Given the description of an element on the screen output the (x, y) to click on. 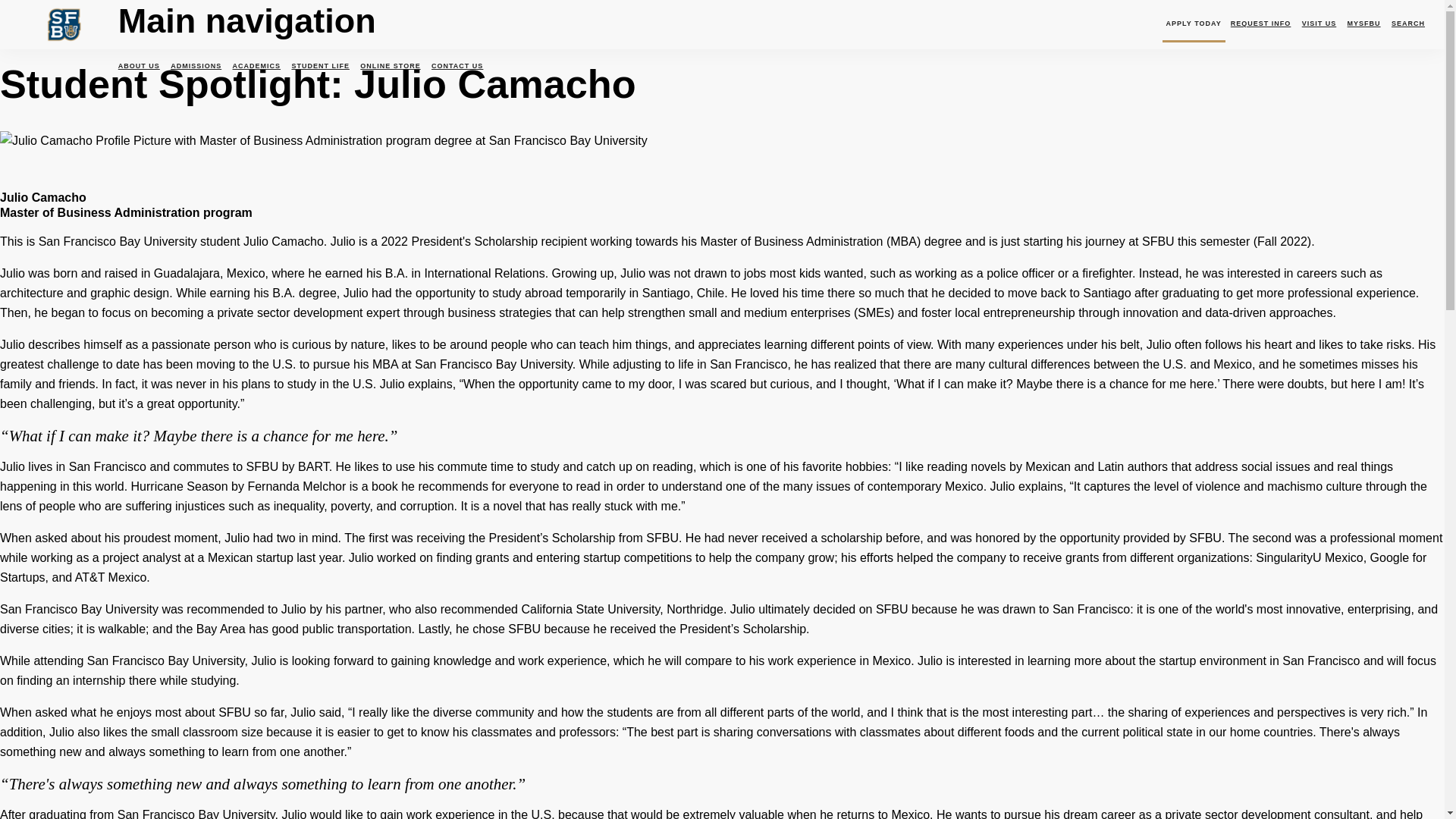
STUDENT LIFE (320, 65)
ACADEMICS (256, 65)
Home (67, 44)
ADMISSIONS (196, 65)
ABOUT US (141, 65)
